Given the description of an element on the screen output the (x, y) to click on. 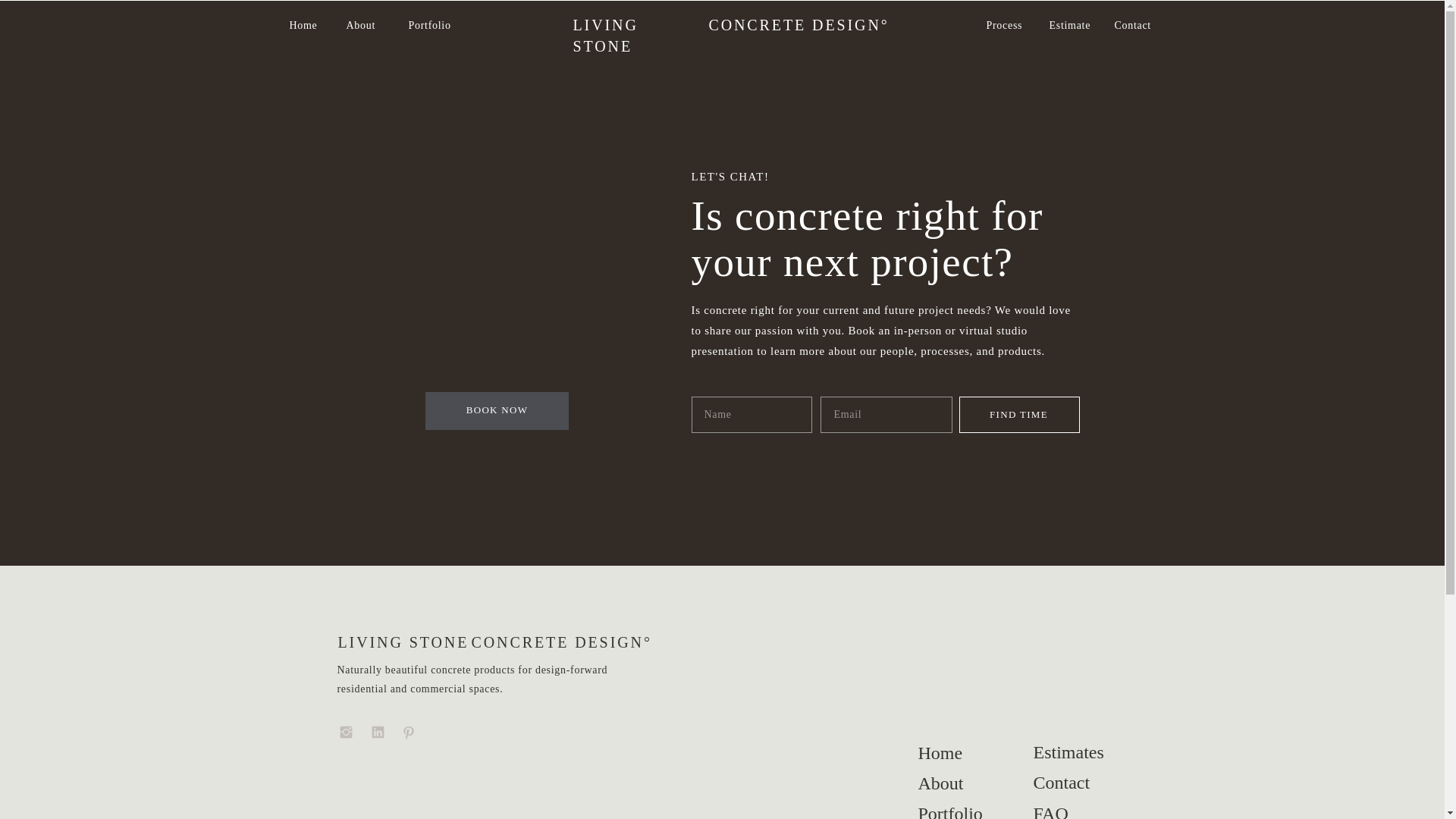
FAQ (1068, 810)
Home (953, 754)
LIVING STONE (480, 643)
Contact (1135, 24)
About (363, 24)
Portfolio (432, 24)
Estimate (1071, 24)
Estimates (1068, 753)
Home (303, 24)
Portfolio (953, 810)
LIVING STONE  (641, 24)
Process (1005, 24)
About (953, 784)
Contact (1068, 783)
